Given the description of an element on the screen output the (x, y) to click on. 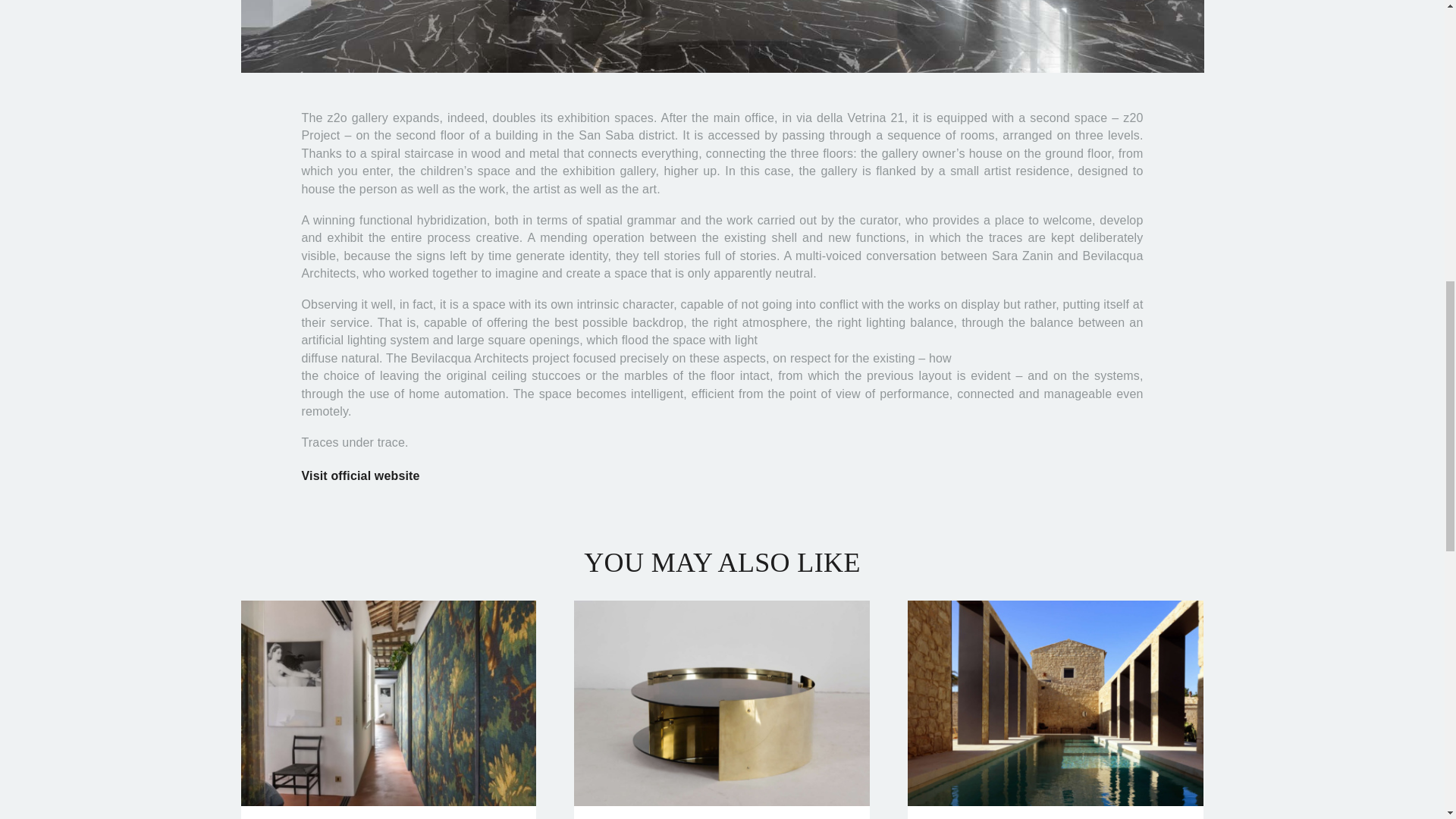
Visit official website (360, 475)
